Given the description of an element on the screen output the (x, y) to click on. 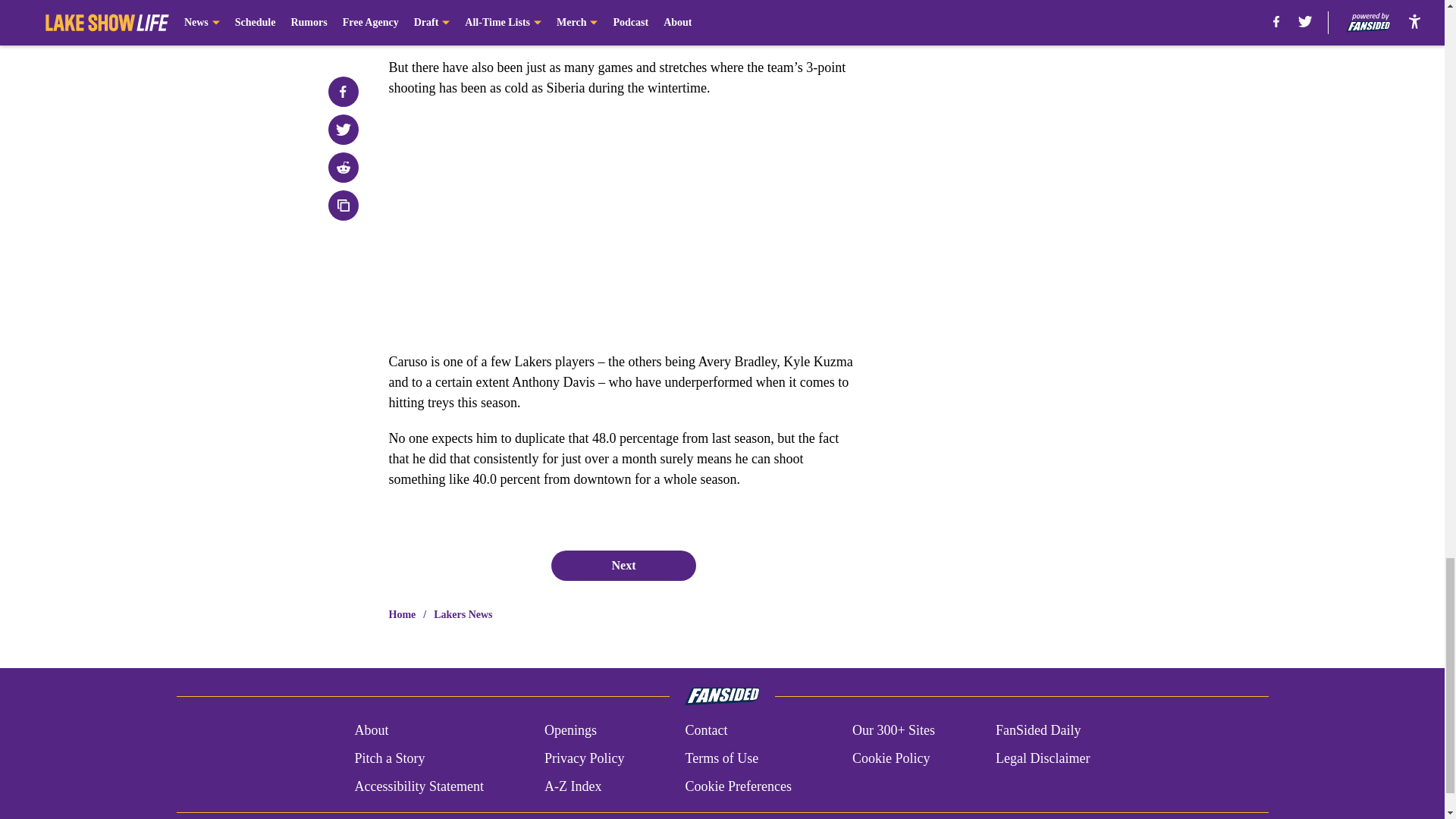
Lakers News (462, 614)
Home (401, 614)
Next (622, 565)
